Given the description of an element on the screen output the (x, y) to click on. 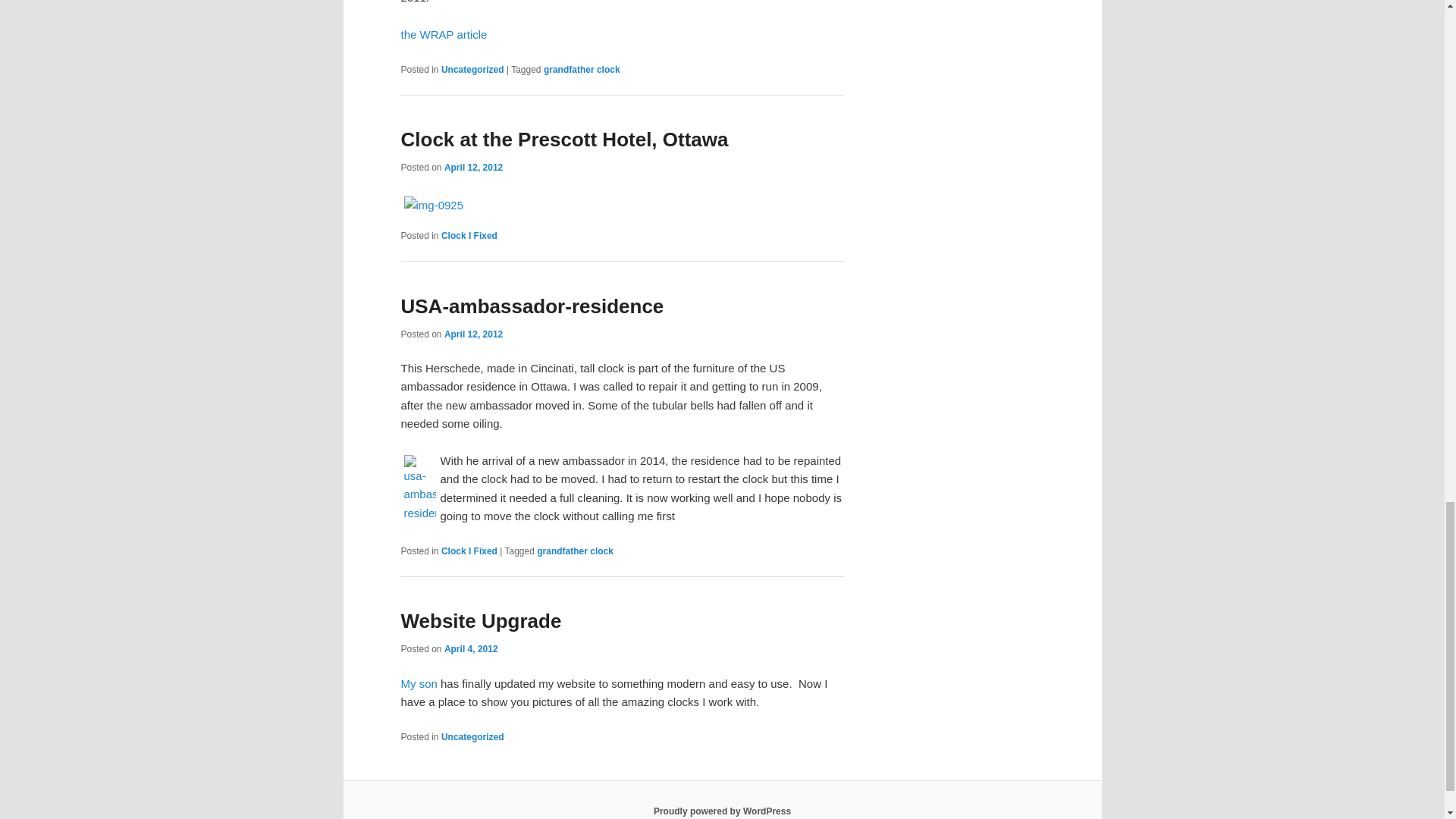
My son (420, 683)
2-face clock; Preston Hotel, Ottawa (434, 205)
10:20 am (473, 167)
Website Upgrade (480, 620)
April 4, 2012 (470, 648)
Uncategorized (472, 69)
img-0925 (438, 205)
1:47 pm (470, 648)
Clock I Fixed (469, 551)
grandfather clock (574, 551)
Clock at the Prescott Hotel, Ottawa (564, 138)
Clock I Fixed (469, 235)
grandfather clock (581, 69)
Uncategorized (472, 737)
